Given the description of an element on the screen output the (x, y) to click on. 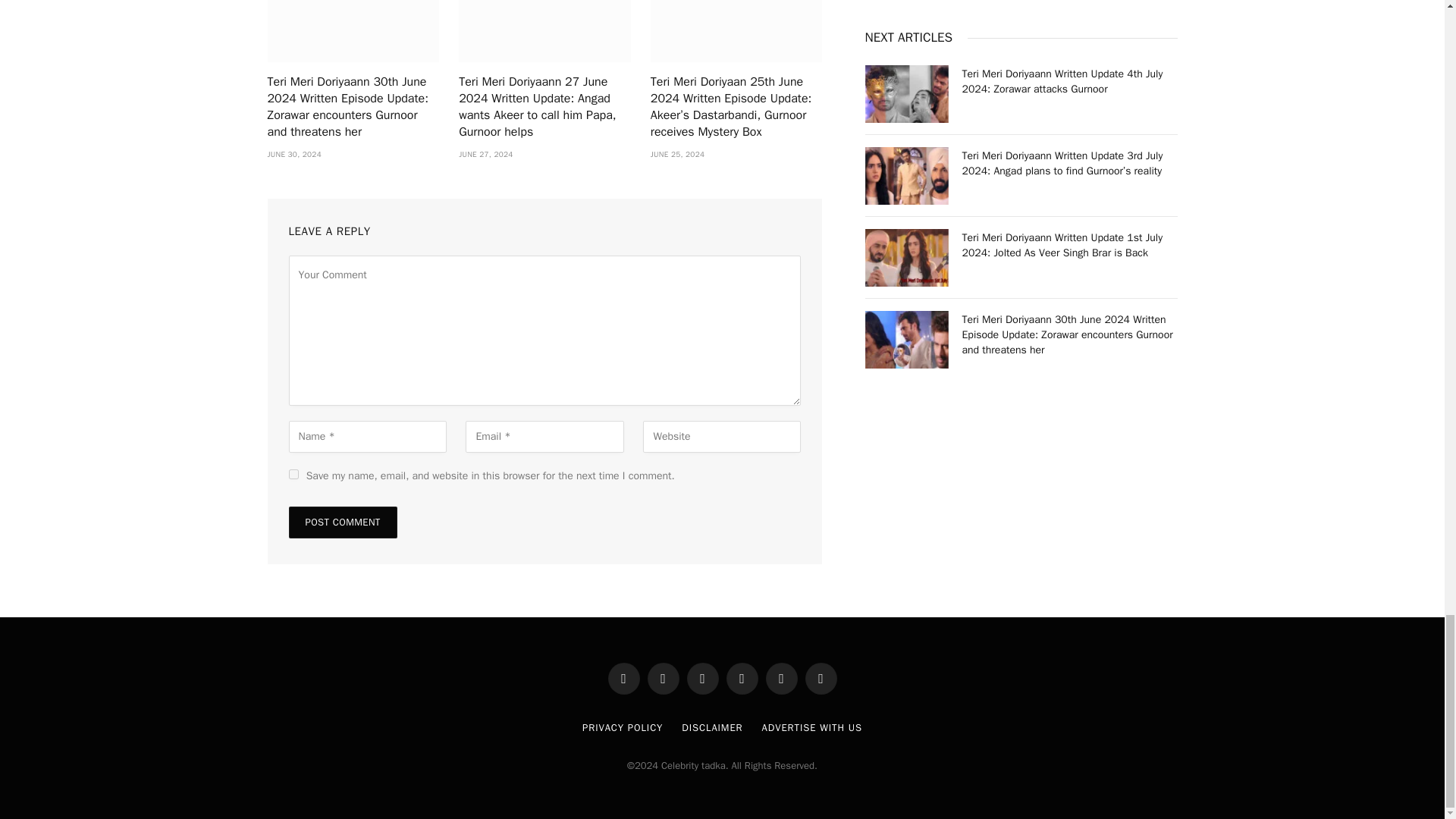
Post Comment (342, 522)
yes (293, 474)
